Given the description of an element on the screen output the (x, y) to click on. 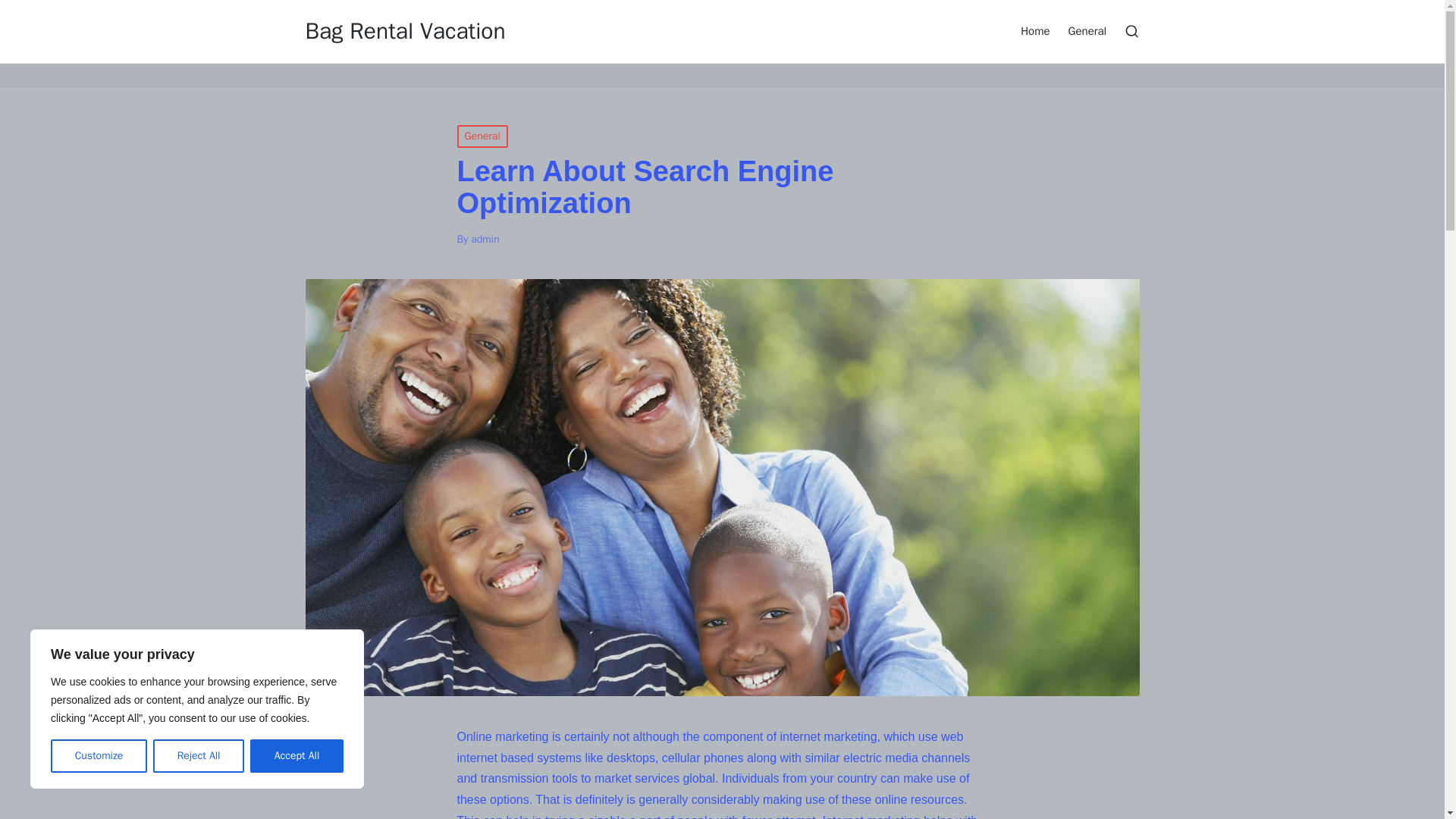
Bag Rental Vacation (404, 31)
Reject All (198, 756)
General (1087, 30)
Home (1034, 30)
Customize (98, 756)
Accept All (296, 756)
admin (484, 238)
General (481, 136)
View all posts by  (484, 238)
